Given the description of an element on the screen output the (x, y) to click on. 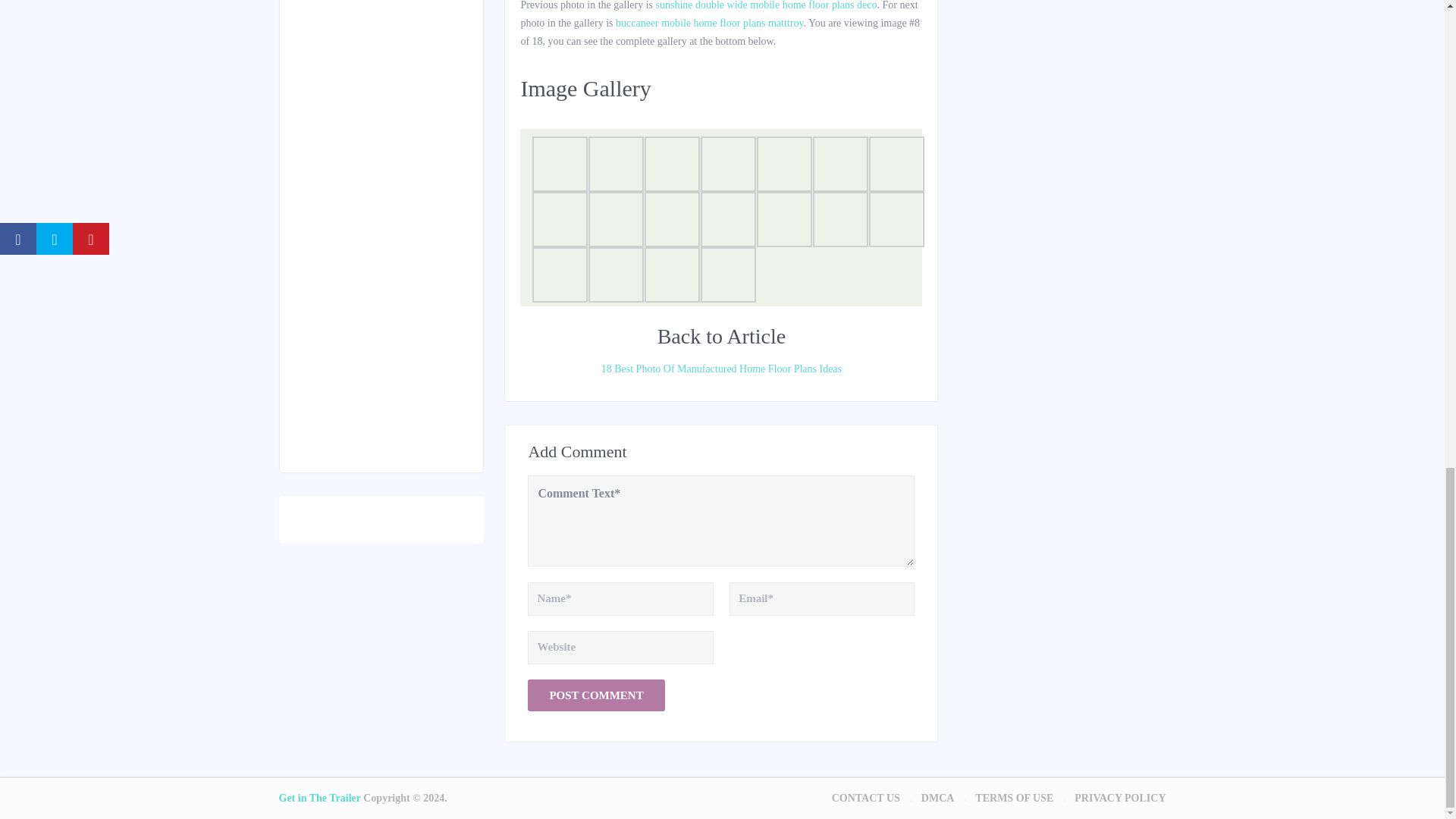
Post Comment (595, 695)
buccaneer mobile home floor plans matttroy (709, 22)
Post Comment (595, 695)
sunshine double wide mobile home floor plans deco (765, 5)
18 Best Photo Of Manufactured Home Floor Plans Ideas (720, 369)
